Given the description of an element on the screen output the (x, y) to click on. 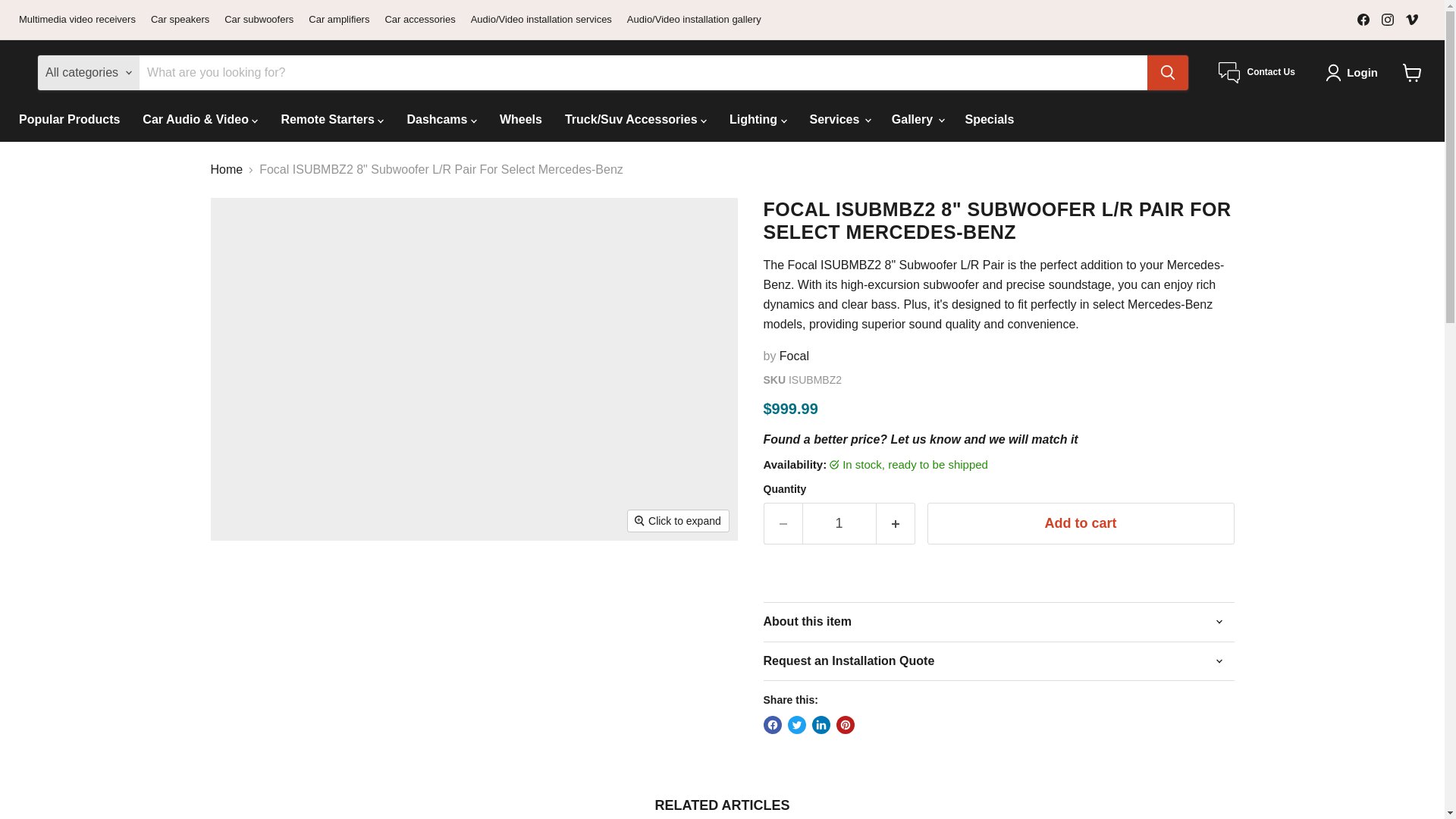
Car amplifiers (338, 19)
Popular Products (69, 119)
Car subwoofers (259, 19)
Multimedia video receivers (76, 19)
1 (839, 523)
Vimeo (1411, 19)
Contact Us (1256, 72)
Facebook (1363, 19)
Find us on Instagram (1387, 19)
Login (1354, 72)
